Given the description of an element on the screen output the (x, y) to click on. 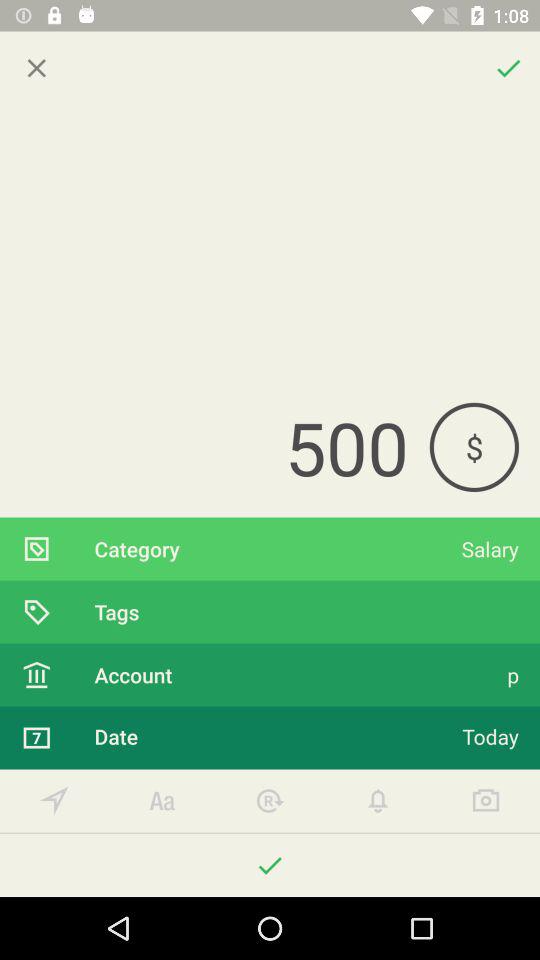
turn off icon next to the $ item (214, 447)
